Given the description of an element on the screen output the (x, y) to click on. 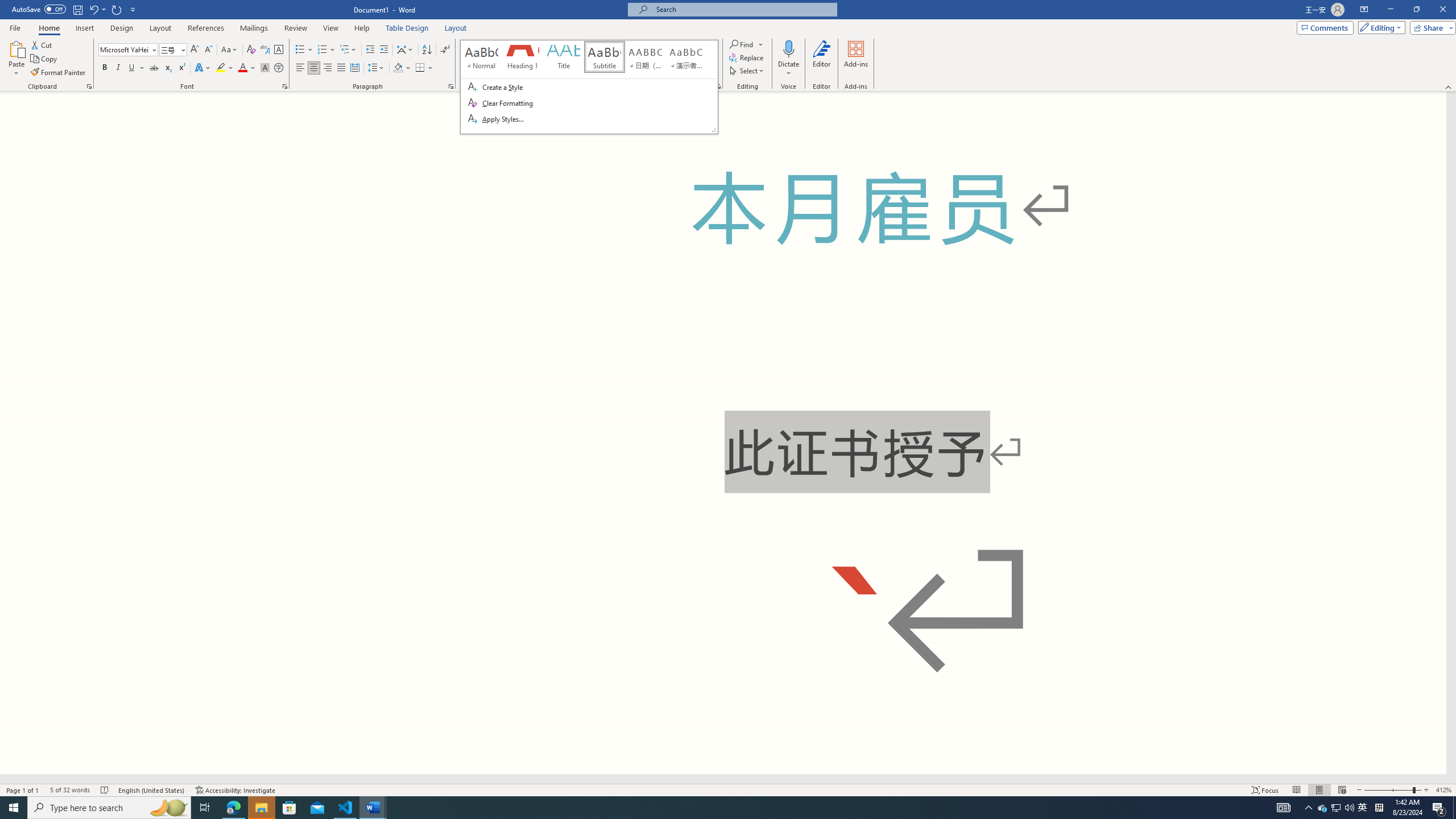
Undo Superscript (92, 9)
